Given the description of an element on the screen output the (x, y) to click on. 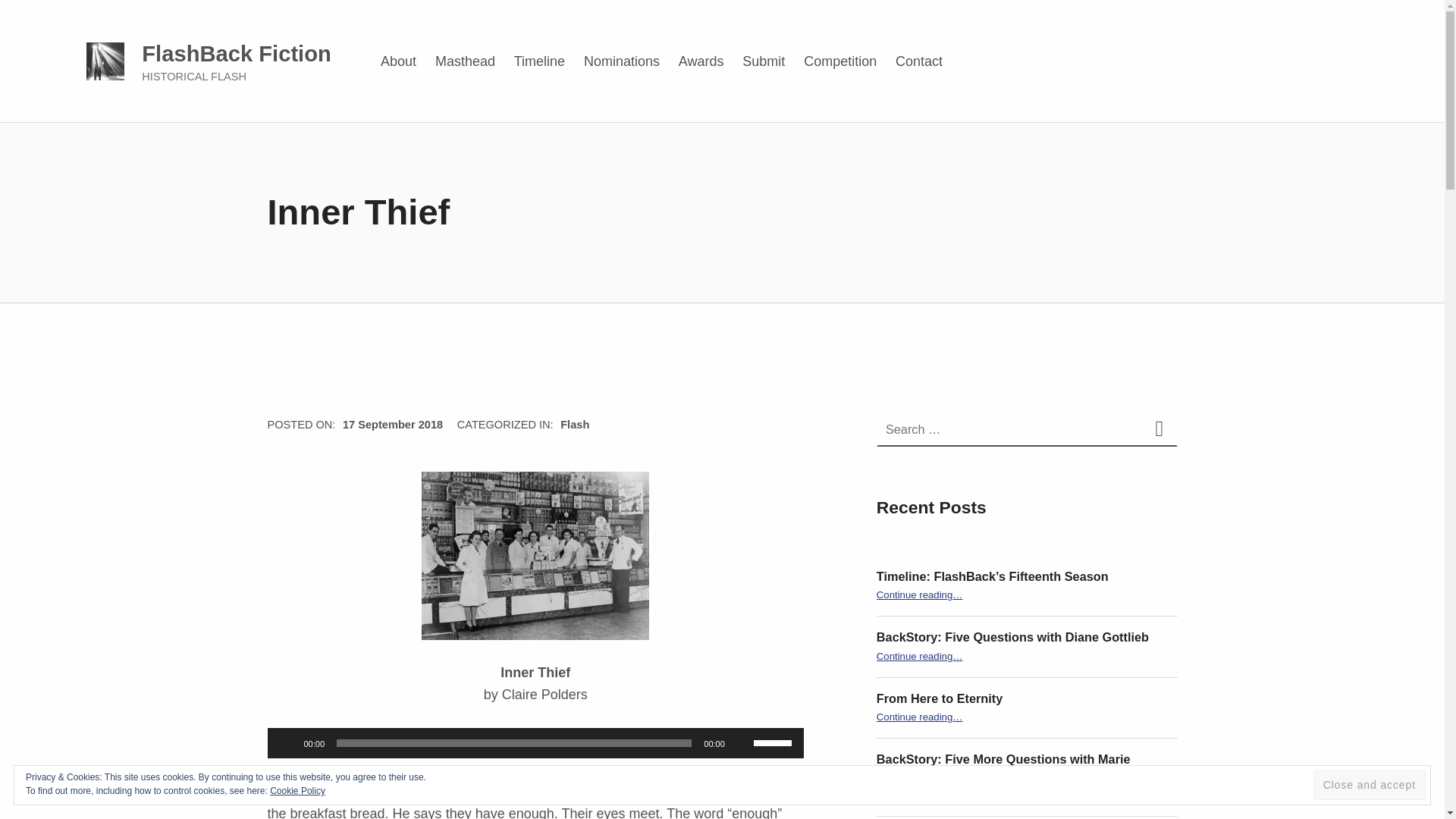
FlashBack Fiction (236, 53)
BackStory: Five Questions with Diane Gottlieb (1012, 636)
Close and accept (1369, 785)
Contact (918, 60)
About (398, 60)
From Here to Eternity (939, 698)
Flash (574, 424)
Search (1158, 429)
Timeline (539, 60)
Competition (839, 60)
